Given the description of an element on the screen output the (x, y) to click on. 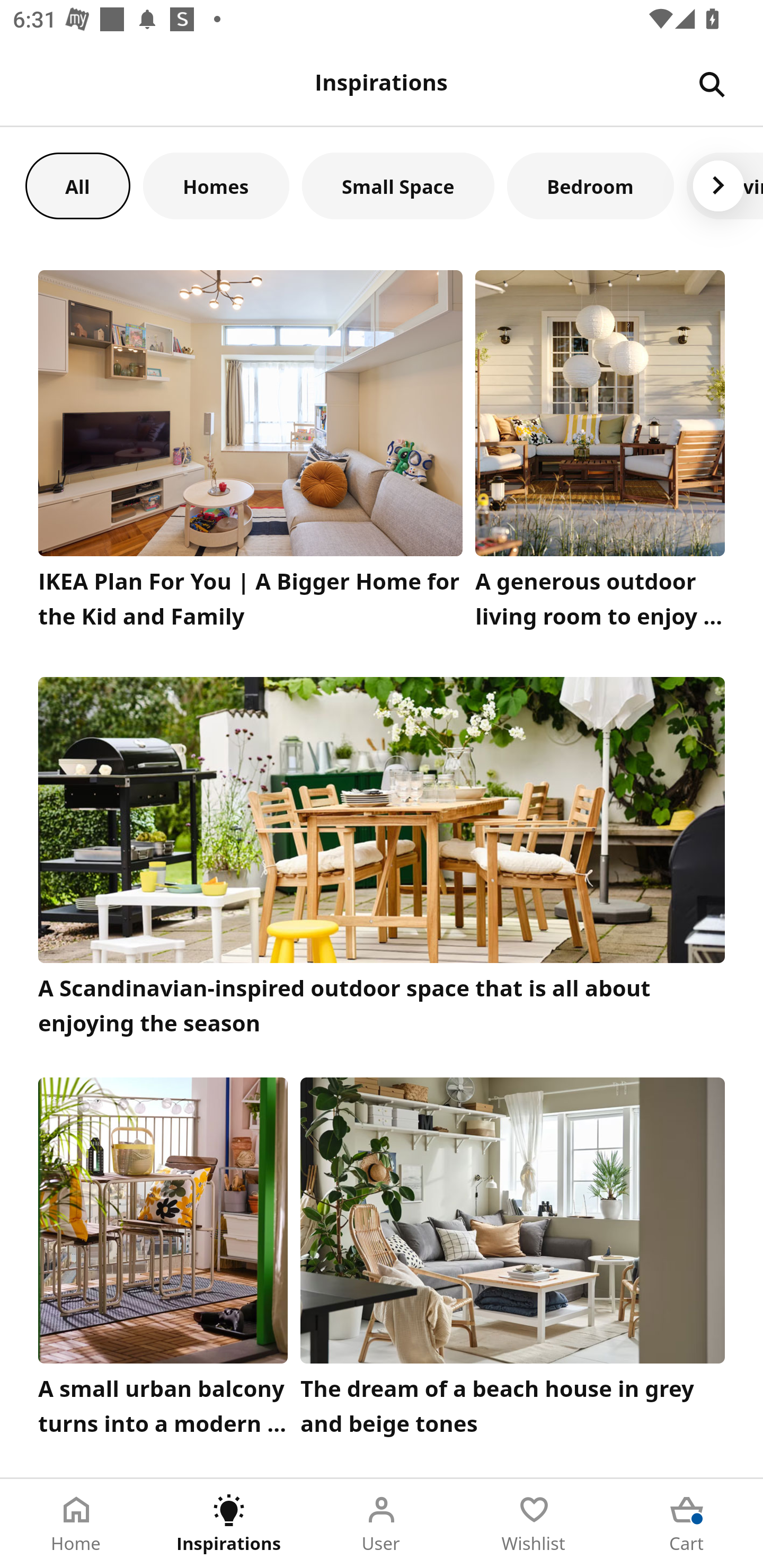
All (77, 185)
Homes (216, 185)
Small Space (398, 185)
Bedroom (590, 185)
The dream of a beach house in grey and beige tones (512, 1261)
Home
Tab 1 of 5 (76, 1522)
Inspirations
Tab 2 of 5 (228, 1522)
User
Tab 3 of 5 (381, 1522)
Wishlist
Tab 4 of 5 (533, 1522)
Cart
Tab 5 of 5 (686, 1522)
